Given the description of an element on the screen output the (x, y) to click on. 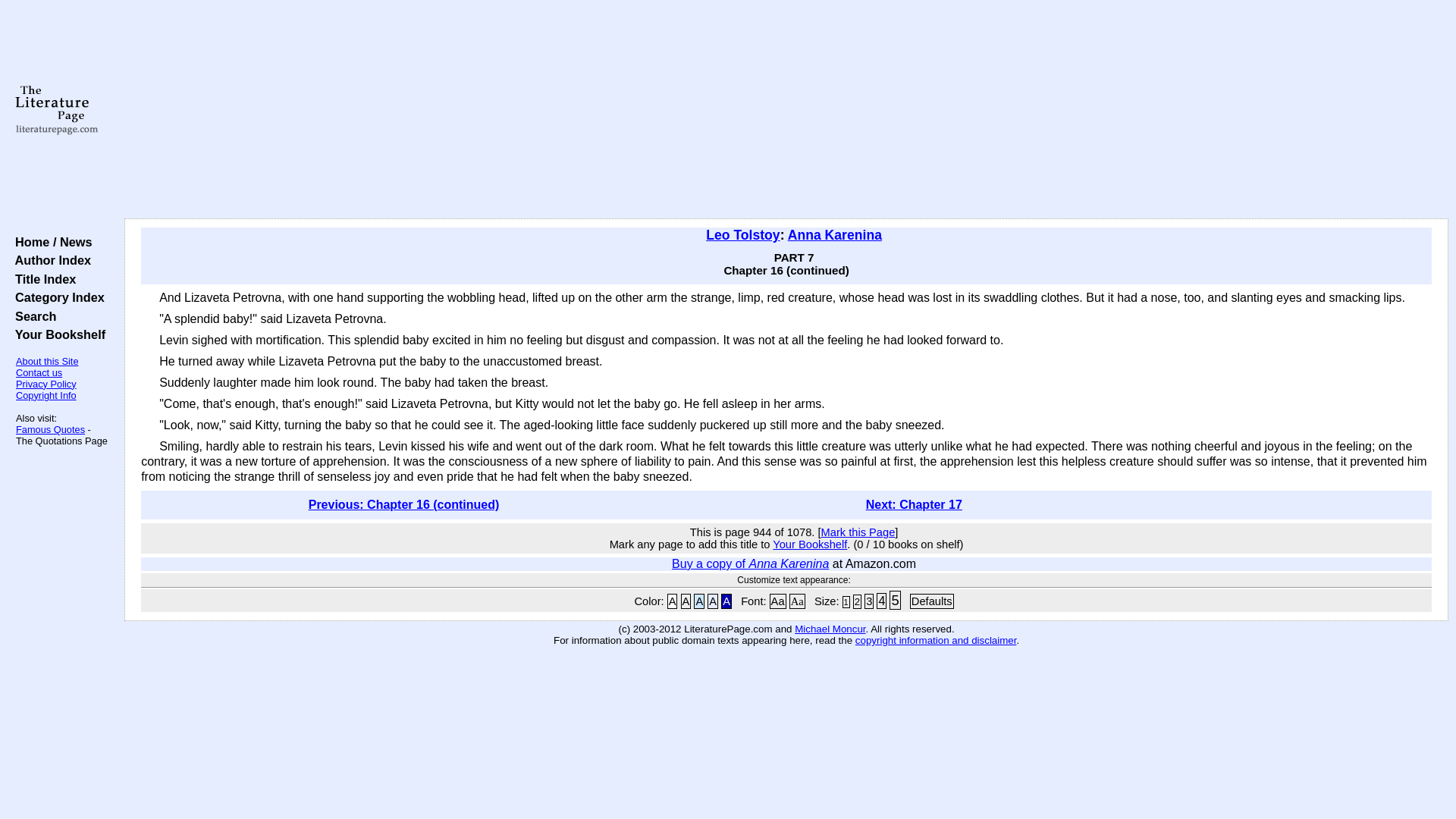
Anna Karenina (834, 234)
Famous Quotes (50, 429)
  Author Index (49, 259)
  Category Index (56, 296)
Michael Moncur (829, 628)
Aa (797, 601)
Copyright Info (46, 395)
Serif (797, 601)
Next: Chapter 17 (914, 504)
About this Site (47, 360)
Defaults (931, 601)
Mark this Page (858, 532)
Buy a copy of Anna Karenina (749, 563)
Contact us (39, 372)
  Search (32, 315)
